Given the description of an element on the screen output the (x, y) to click on. 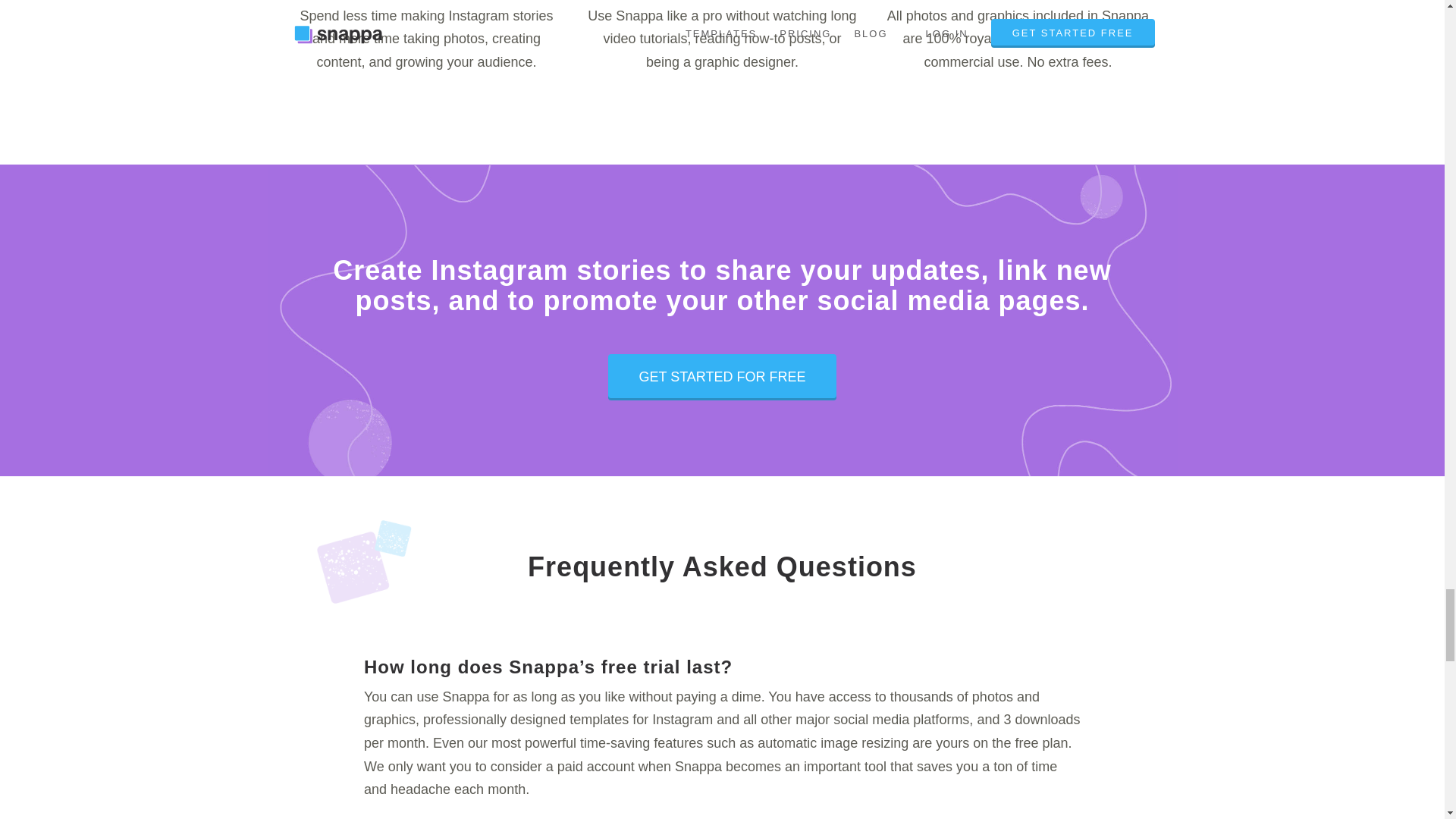
GET STARTED FOR FREE (721, 376)
